Given the description of an element on the screen output the (x, y) to click on. 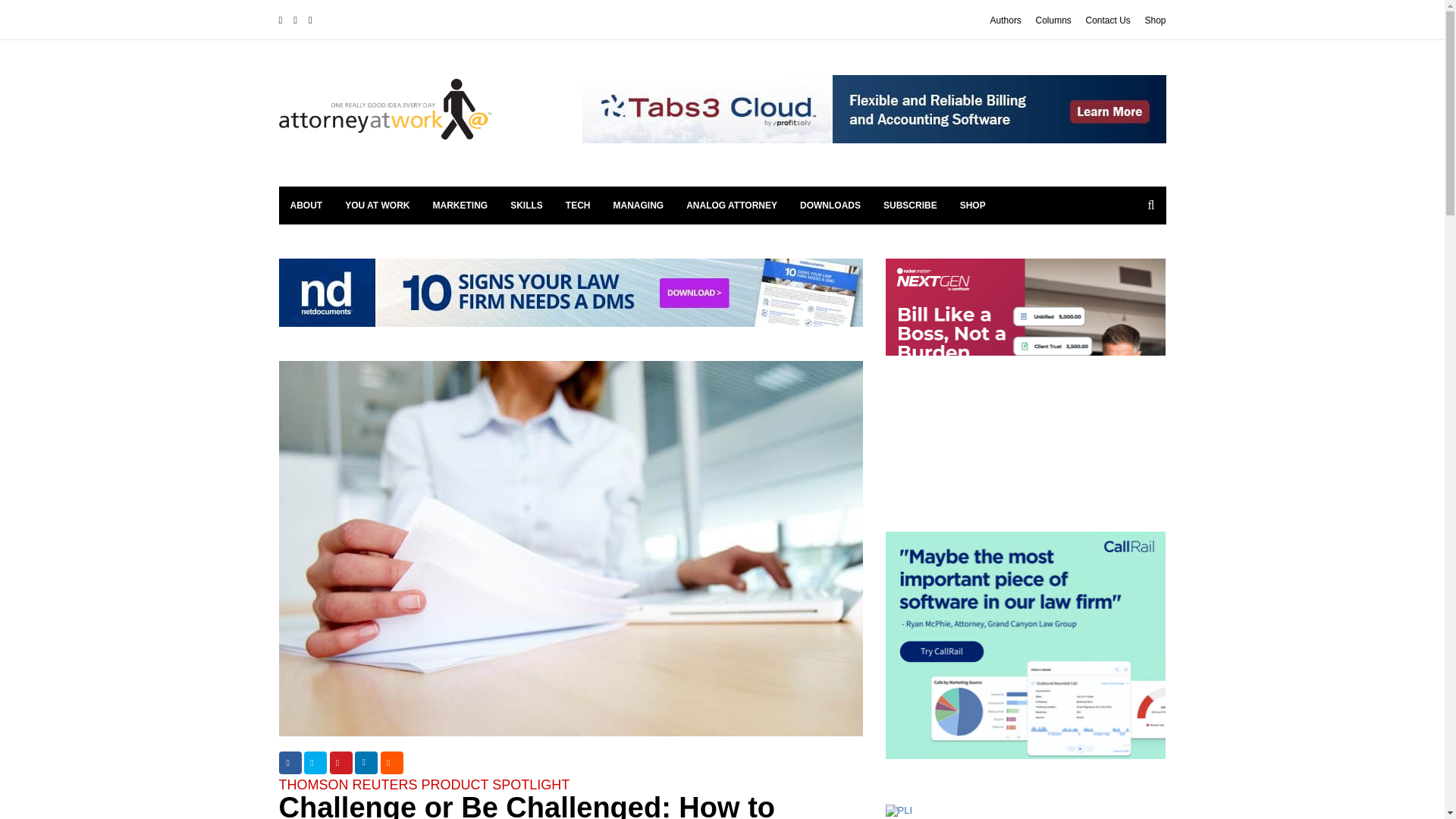
ABOUT (306, 205)
YOU AT WORK (376, 205)
TECH (578, 205)
You At Work (376, 205)
Contact Us (1106, 20)
Columns (1053, 20)
About (306, 205)
Authors (1006, 20)
Shop (1155, 20)
MARKETING (460, 205)
